Given the description of an element on the screen output the (x, y) to click on. 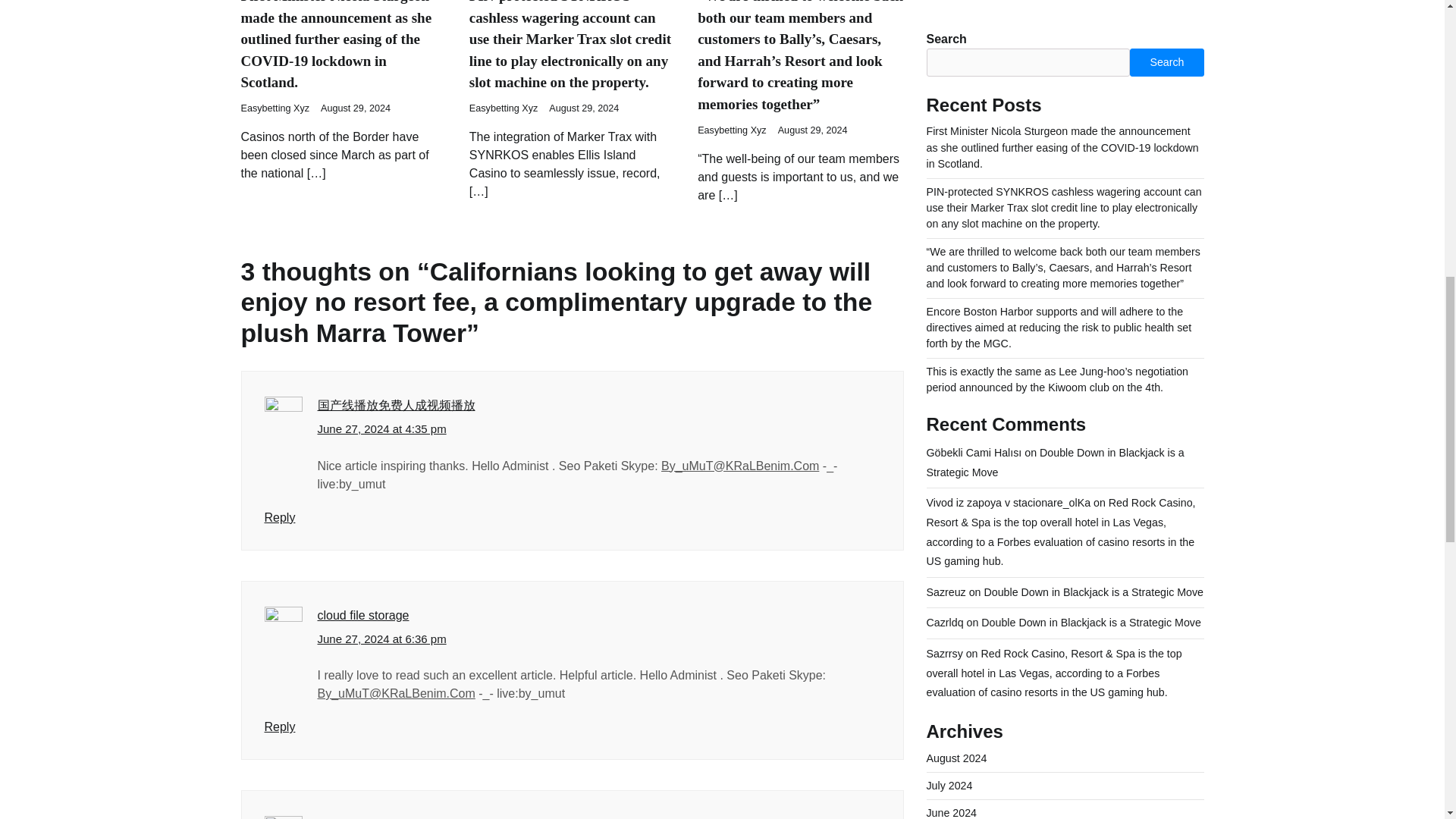
Sahabet (339, 818)
June 27, 2024 at 4:35 pm (381, 429)
Reply (279, 517)
Easybetting Xyz (732, 130)
Easybetting Xyz (275, 108)
cloud file storage (363, 615)
June 27, 2024 at 6:36 pm (381, 639)
Easybetting Xyz (503, 108)
Reply (279, 726)
